Given the description of an element on the screen output the (x, y) to click on. 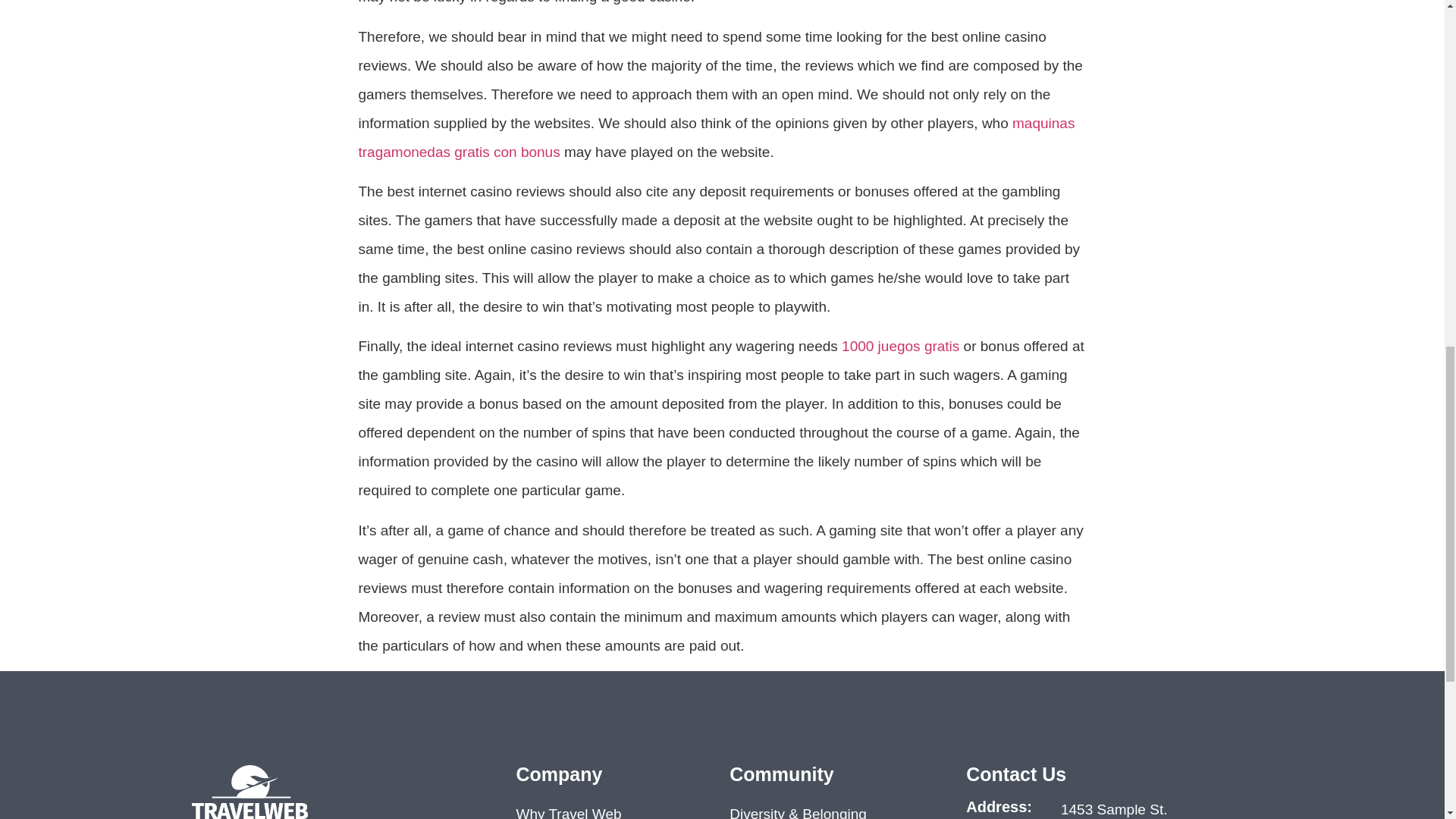
maquinas tragamonedas gratis con bonus (716, 137)
1000 juegos gratis (900, 345)
